Given the description of an element on the screen output the (x, y) to click on. 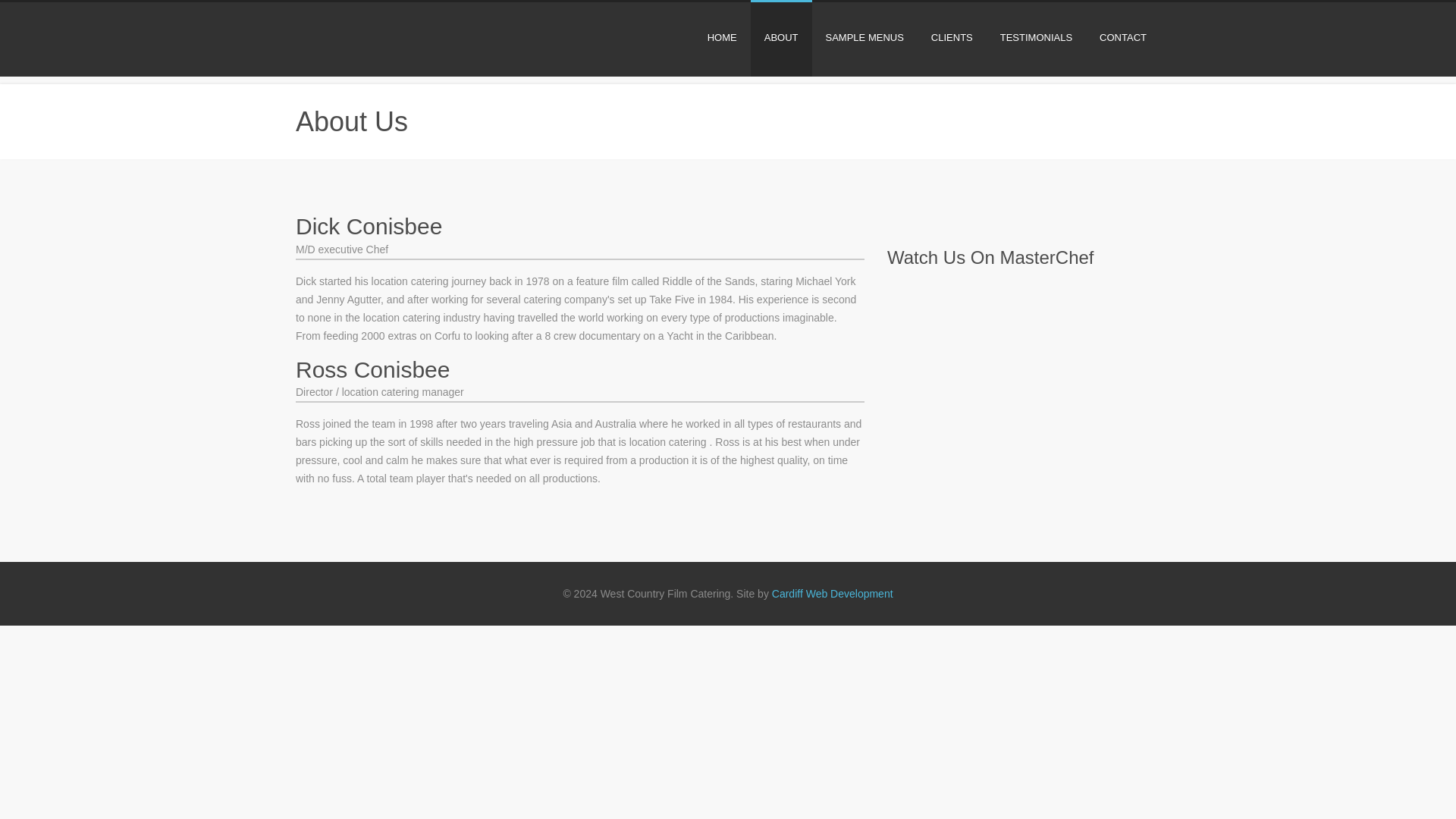
ABOUT (781, 38)
Cardiff Web Development (832, 593)
HOME (722, 38)
CONTACT (1123, 38)
CLIENTS (952, 38)
SAMPLE MENUS (864, 38)
TESTIMONIALS (1036, 38)
